Given the description of an element on the screen output the (x, y) to click on. 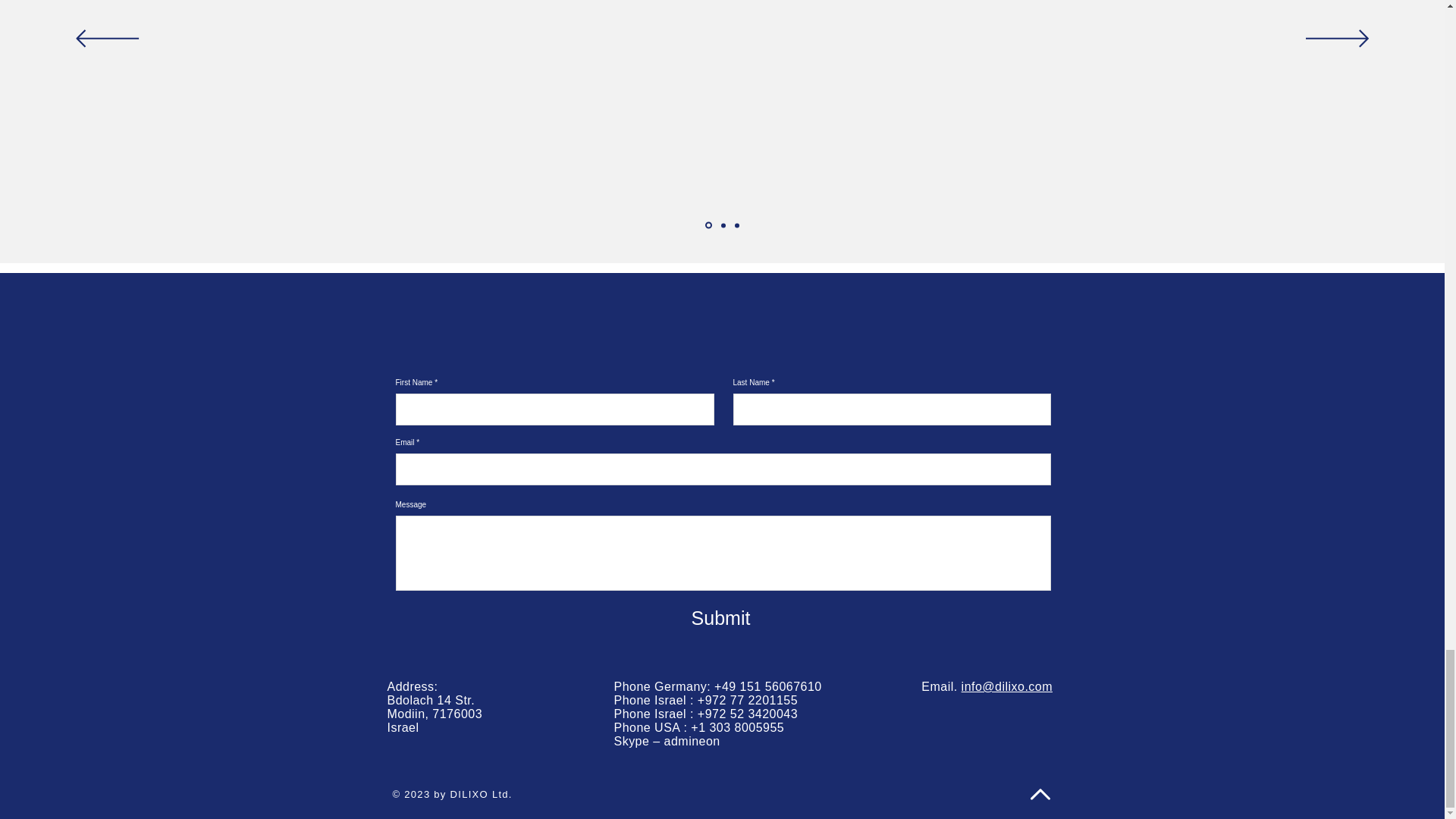
Submit (720, 617)
